Given the description of an element on the screen output the (x, y) to click on. 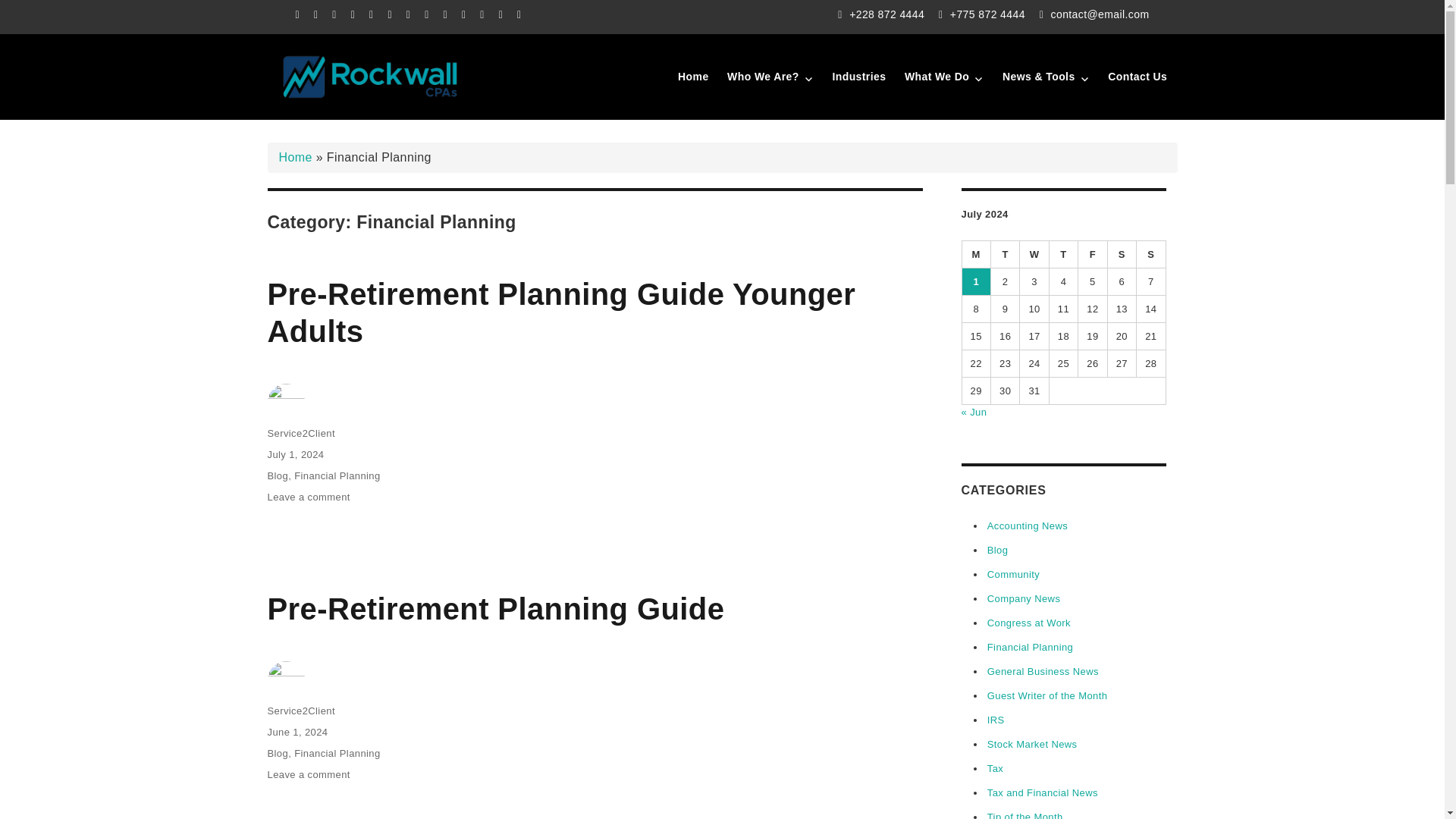
Monday (975, 254)
Thursday (1063, 254)
Saturday (1122, 254)
Sunday (1151, 254)
Friday (1092, 254)
Home (692, 76)
Wednesday (1034, 254)
Industries (858, 76)
What We Do (943, 76)
Who We Are? (769, 76)
Rockwall Accountant Theme (429, 128)
Tuesday (1005, 254)
